Given the description of an element on the screen output the (x, y) to click on. 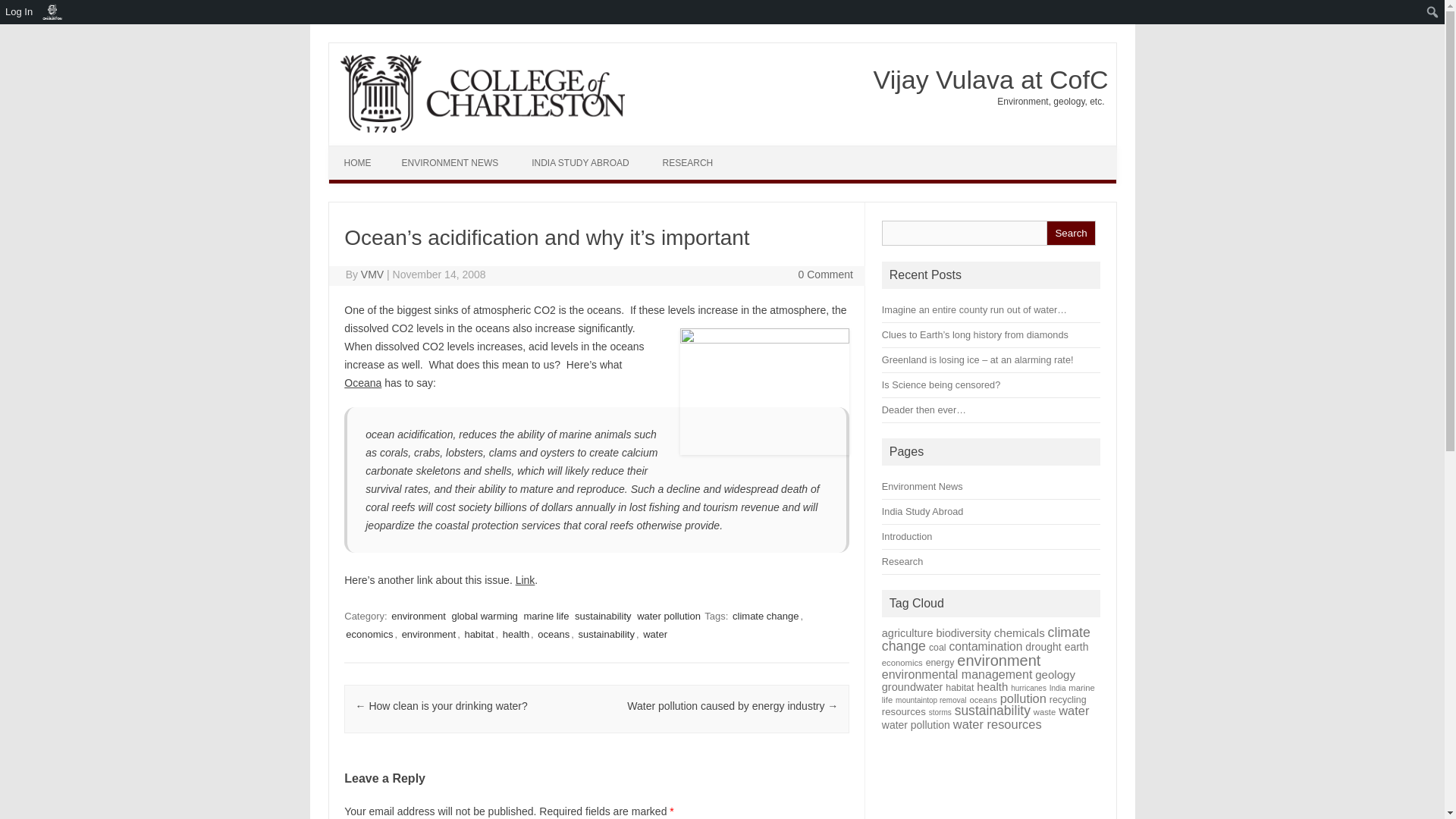
INDIA STUDY ABROAD (579, 162)
Search (1070, 232)
India Study Abroad (922, 511)
Vijay Vulava at CofC (984, 79)
VMV (372, 274)
Oceana (362, 382)
Skip to content (757, 150)
Vijay Vulava at CofC (984, 79)
environment (418, 616)
0 Comment (825, 274)
ENVIRONMENT NEWS (450, 162)
Environment, geology, etc. (1046, 101)
water (655, 634)
Is Science being censored? (941, 384)
water pollution (667, 616)
